Given the description of an element on the screen output the (x, y) to click on. 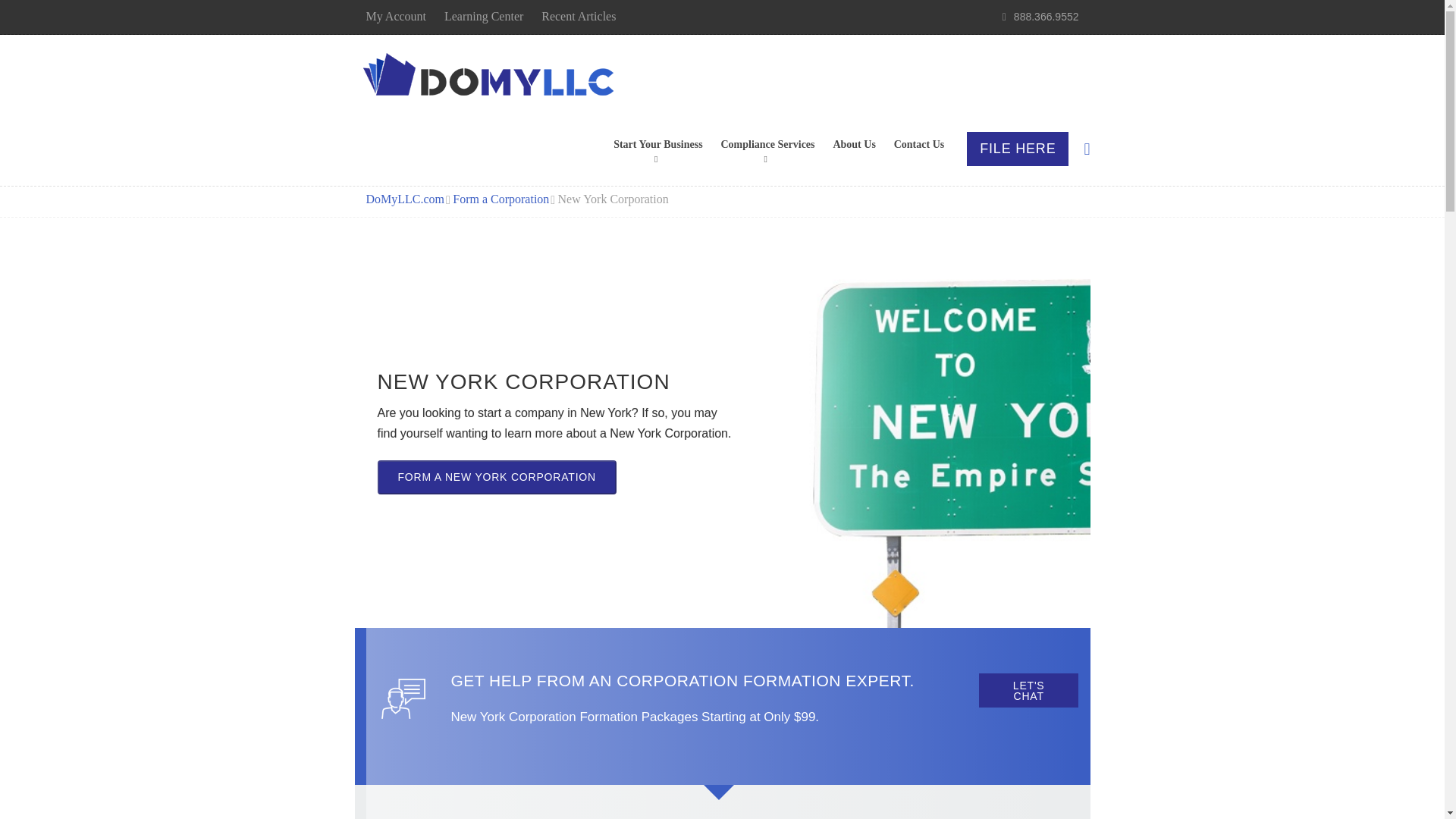
contactwhite (402, 698)
Go to Form a Corporation. (500, 198)
My Account (395, 15)
DoMyLLC.com (491, 77)
Go to DoMyLLC.com. (404, 198)
Recent Articles (578, 15)
888.366.9552 (1045, 16)
Learning Center (483, 15)
